Given the description of an element on the screen output the (x, y) to click on. 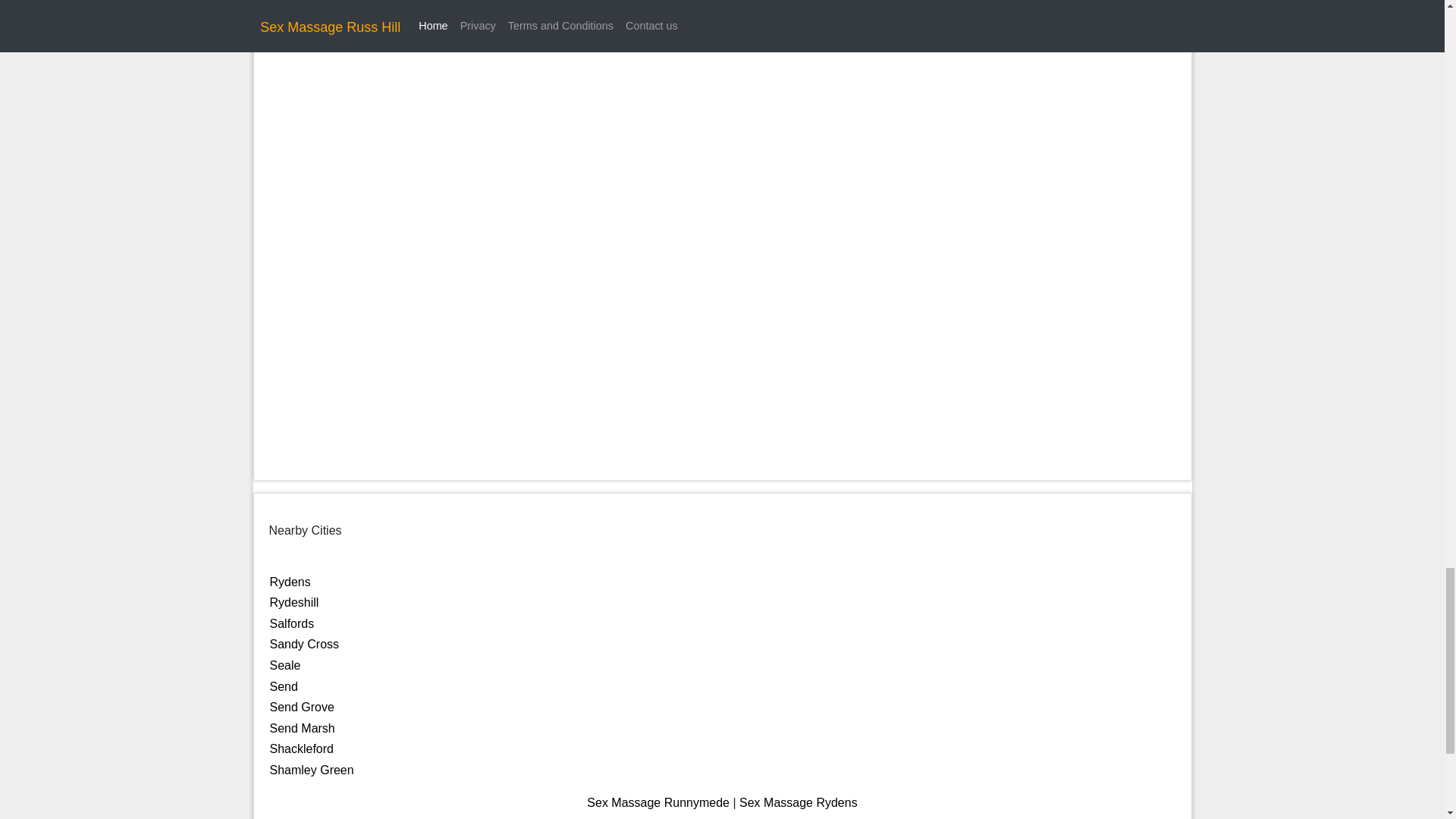
Shackleford (301, 748)
Rydeshill (293, 602)
Sex Massage Runnymede (657, 802)
Sex Massage Rydens (798, 802)
Send Grove (301, 707)
Rydens (290, 581)
Salfords (291, 623)
Send Marsh (301, 727)
Seale (285, 665)
Send (283, 686)
